Given the description of an element on the screen output the (x, y) to click on. 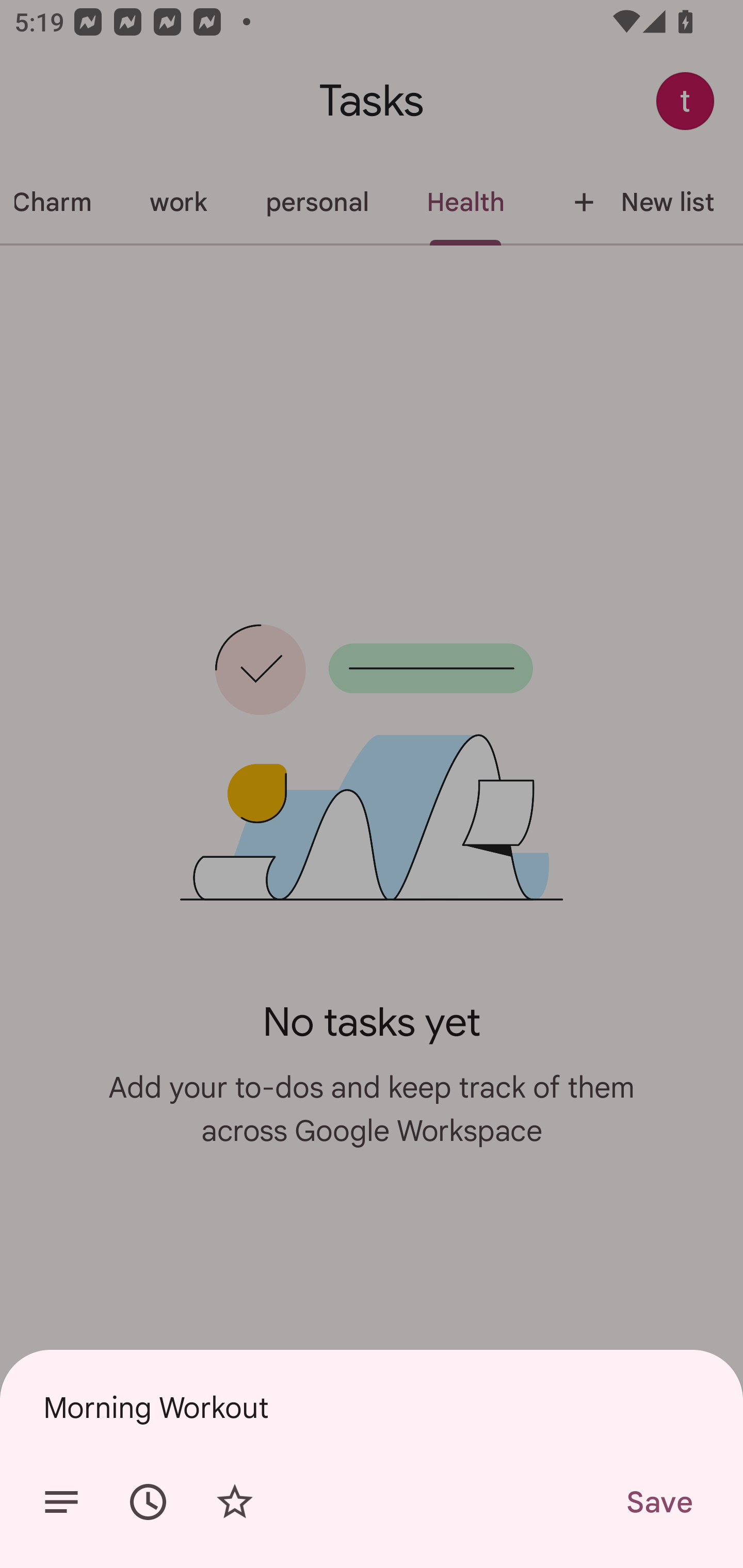
Morning Workout (371, 1407)
Save (659, 1501)
Add details (60, 1501)
Set date/time (147, 1501)
Add star (234, 1501)
